Given the description of an element on the screen output the (x, y) to click on. 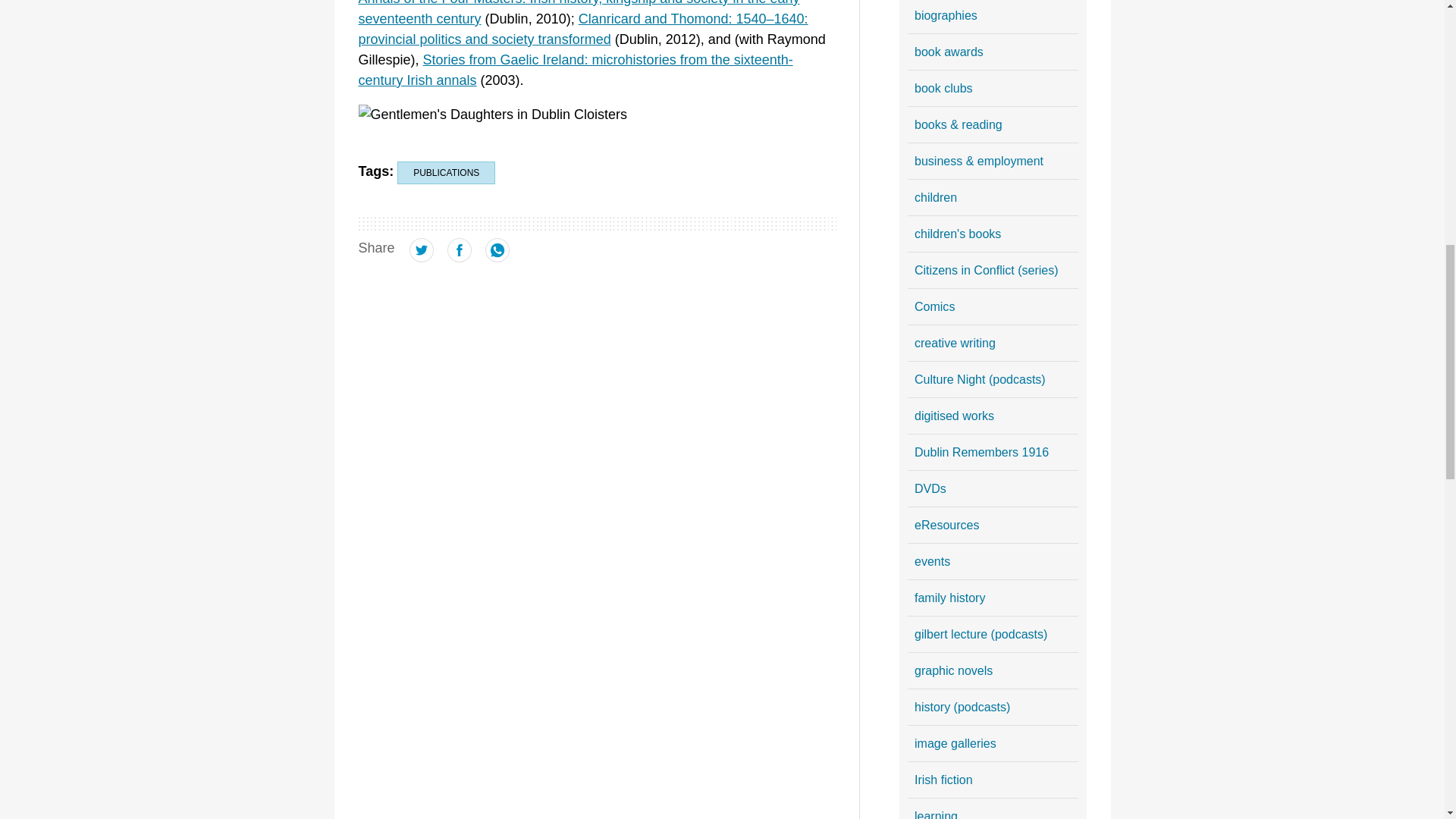
Share via Twitter (421, 257)
PUBLICATIONS (446, 172)
Share via Facebook (458, 257)
Share via WhatsApp (496, 257)
